Given the description of an element on the screen output the (x, y) to click on. 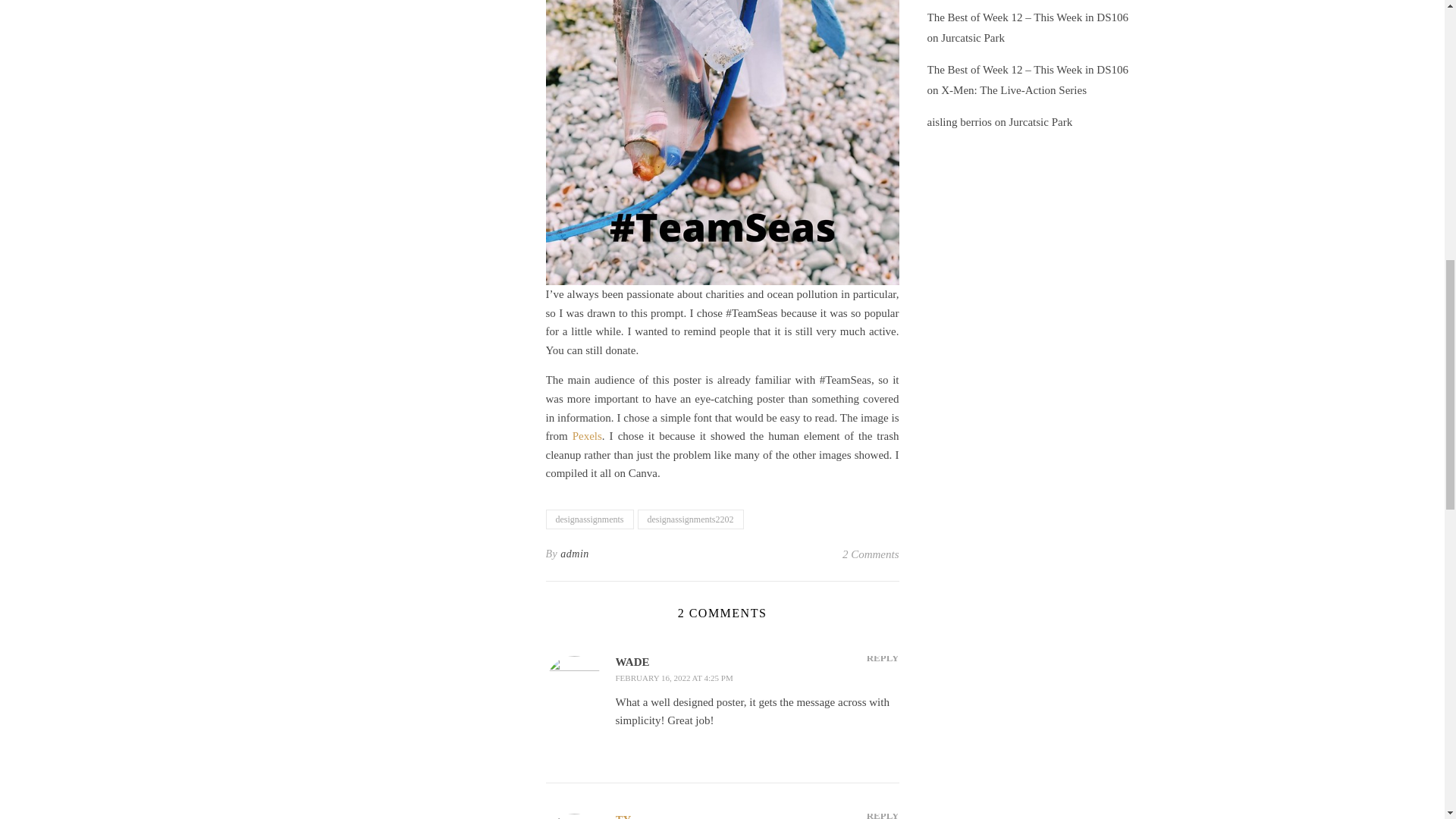
TY (623, 816)
X-Men: The Live-Action Series (1013, 90)
FEBRUARY 16, 2022 AT 4:25 PM (674, 677)
Jurcatsic Park (972, 37)
designassignments (589, 519)
designassignments2202 (689, 519)
2 Comments (871, 553)
Pexels (587, 435)
REPLY (882, 657)
Posts by admin (574, 553)
admin (574, 553)
REPLY (882, 812)
